Given the description of an element on the screen output the (x, y) to click on. 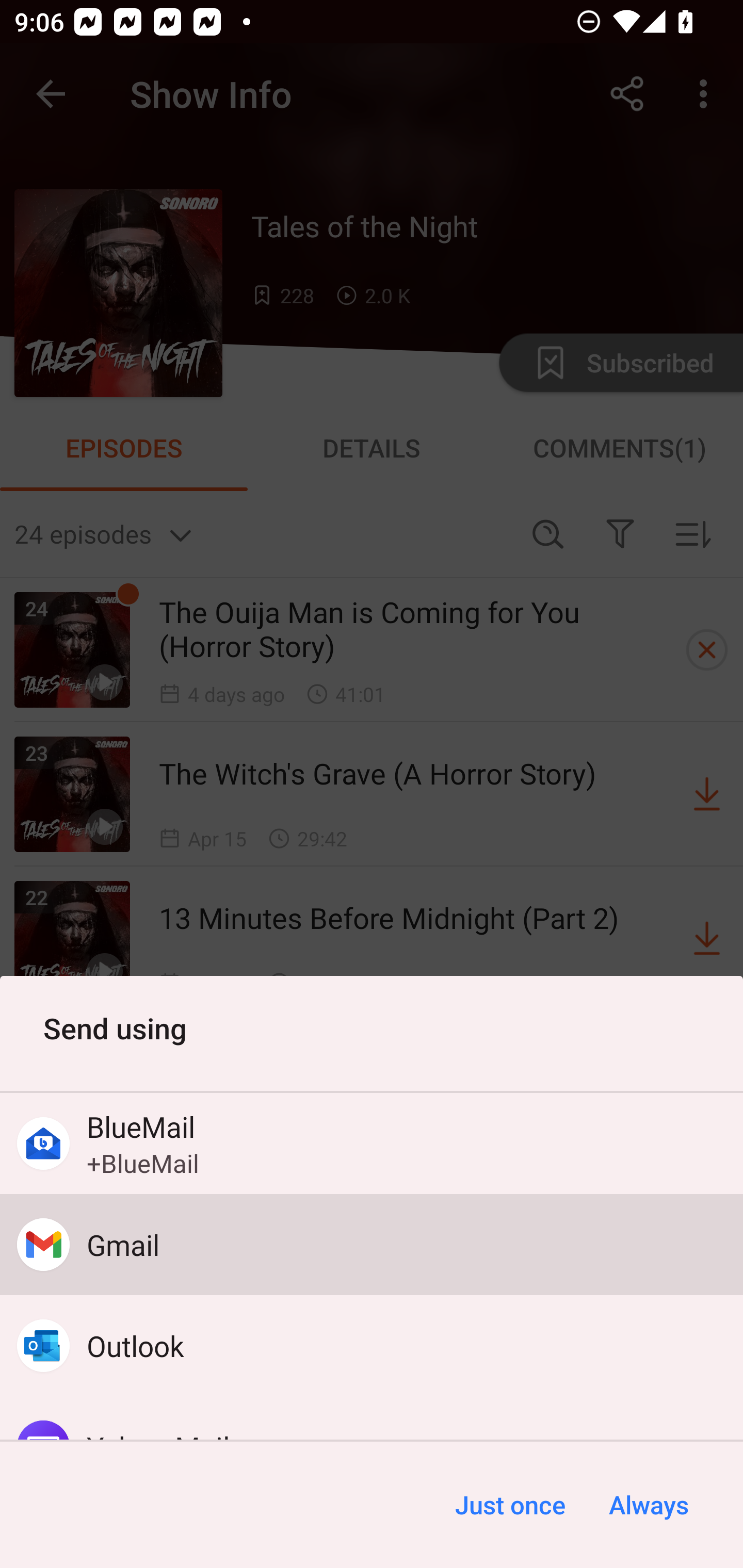
BlueMail +BlueMail (371, 1143)
Gmail (371, 1244)
Outlook (371, 1345)
Just once (509, 1504)
Always (648, 1504)
